Given the description of an element on the screen output the (x, y) to click on. 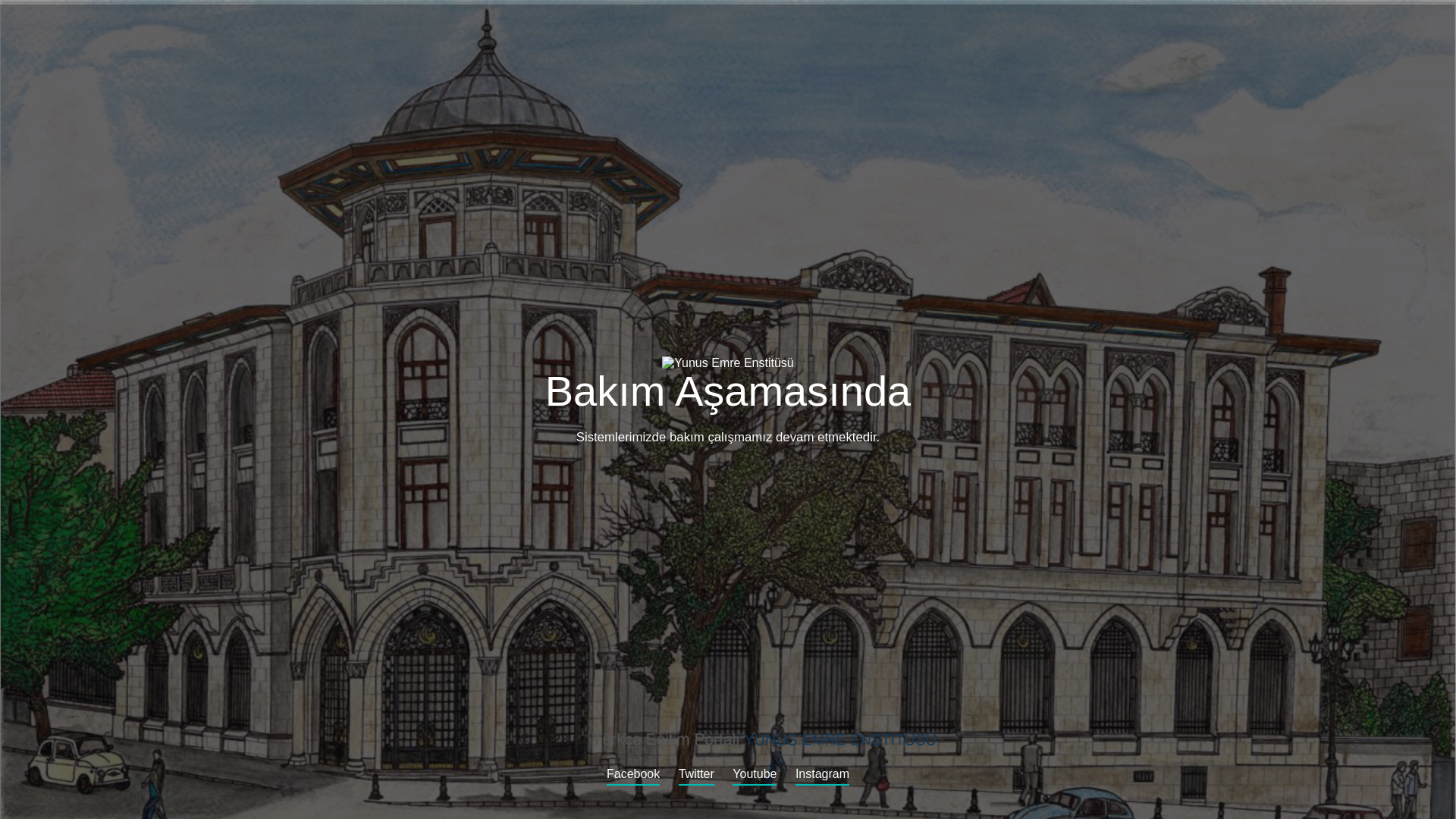
Twitter (696, 776)
Youtube (754, 776)
Facebook (633, 776)
